Given the description of an element on the screen output the (x, y) to click on. 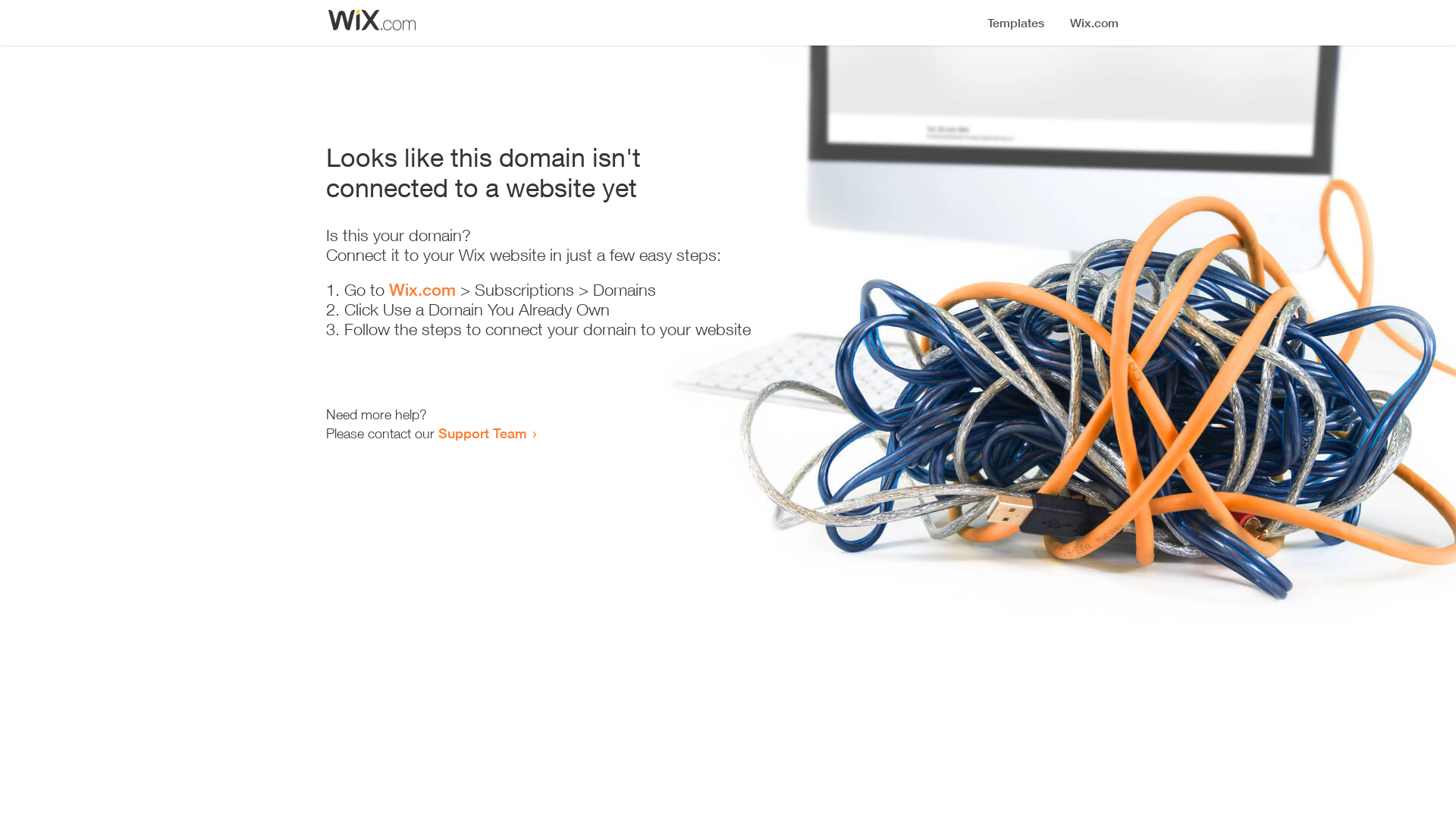
Support Team Element type: text (482, 432)
Wix.com Element type: text (422, 289)
